Given the description of an element on the screen output the (x, y) to click on. 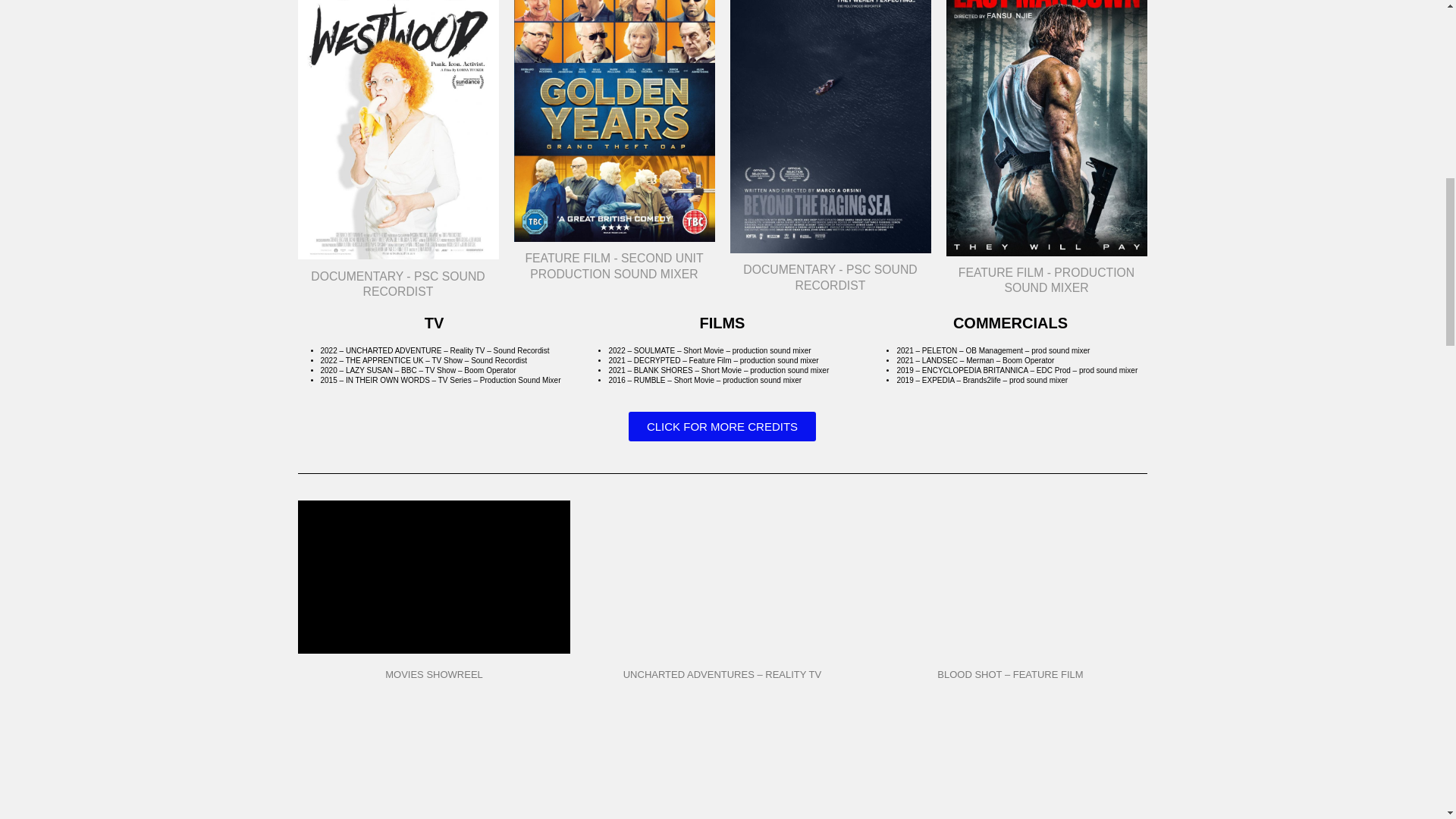
vimeo Video Player (433, 576)
UNCHARTED ADVENTURE (394, 350)
LANDSEC (939, 360)
SOULMATE (654, 350)
DECRYPTED (657, 360)
BLANK SHORES (663, 370)
IN THEIR OWN WORDS (387, 379)
LAZY SUSAN (369, 370)
IMDB (542, 43)
RUMBLE (649, 379)
